Given the description of an element on the screen output the (x, y) to click on. 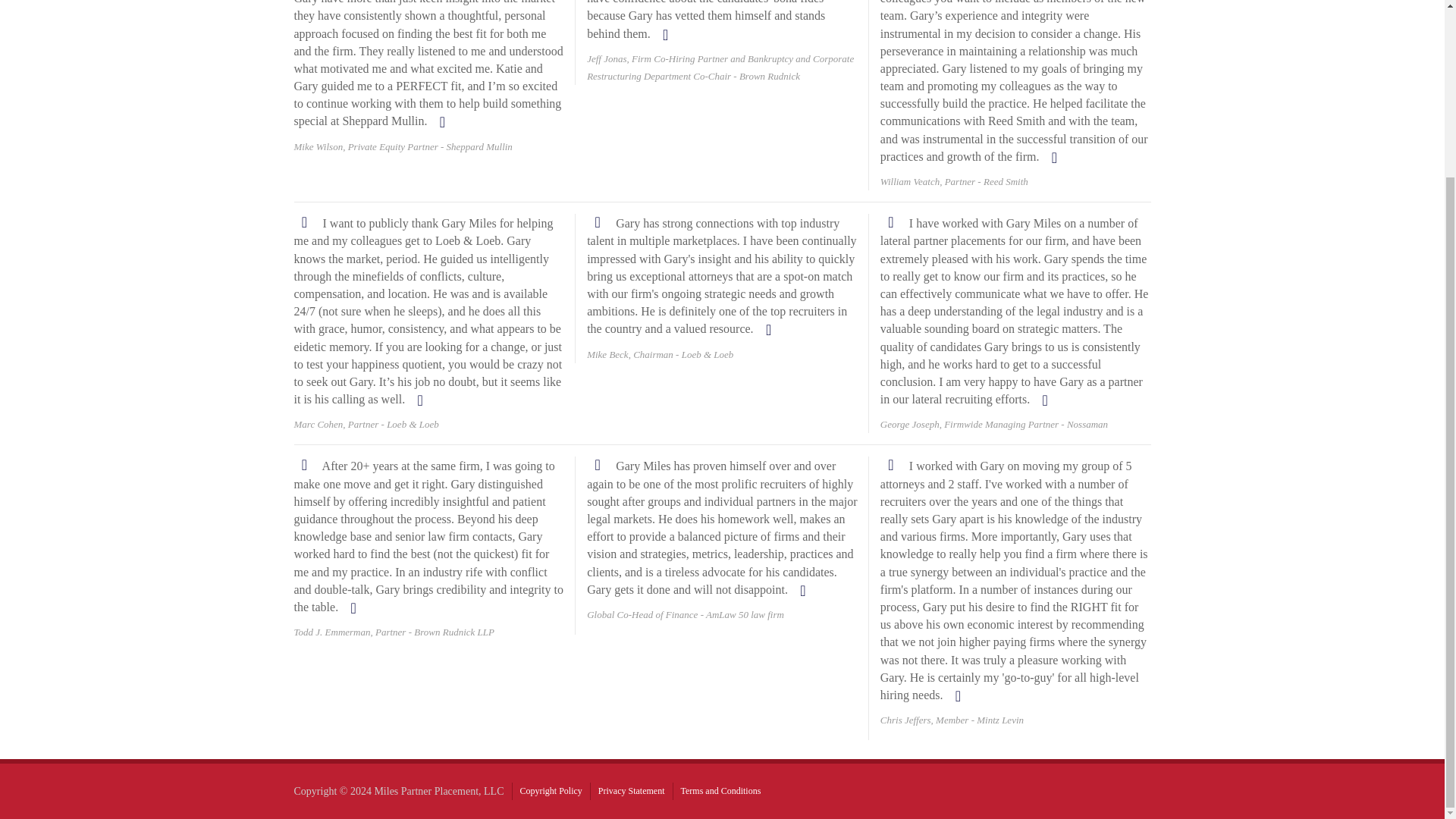
Copyright Policy (550, 790)
Terms and Conditions (721, 790)
Privacy Statement (631, 790)
